Given the description of an element on the screen output the (x, y) to click on. 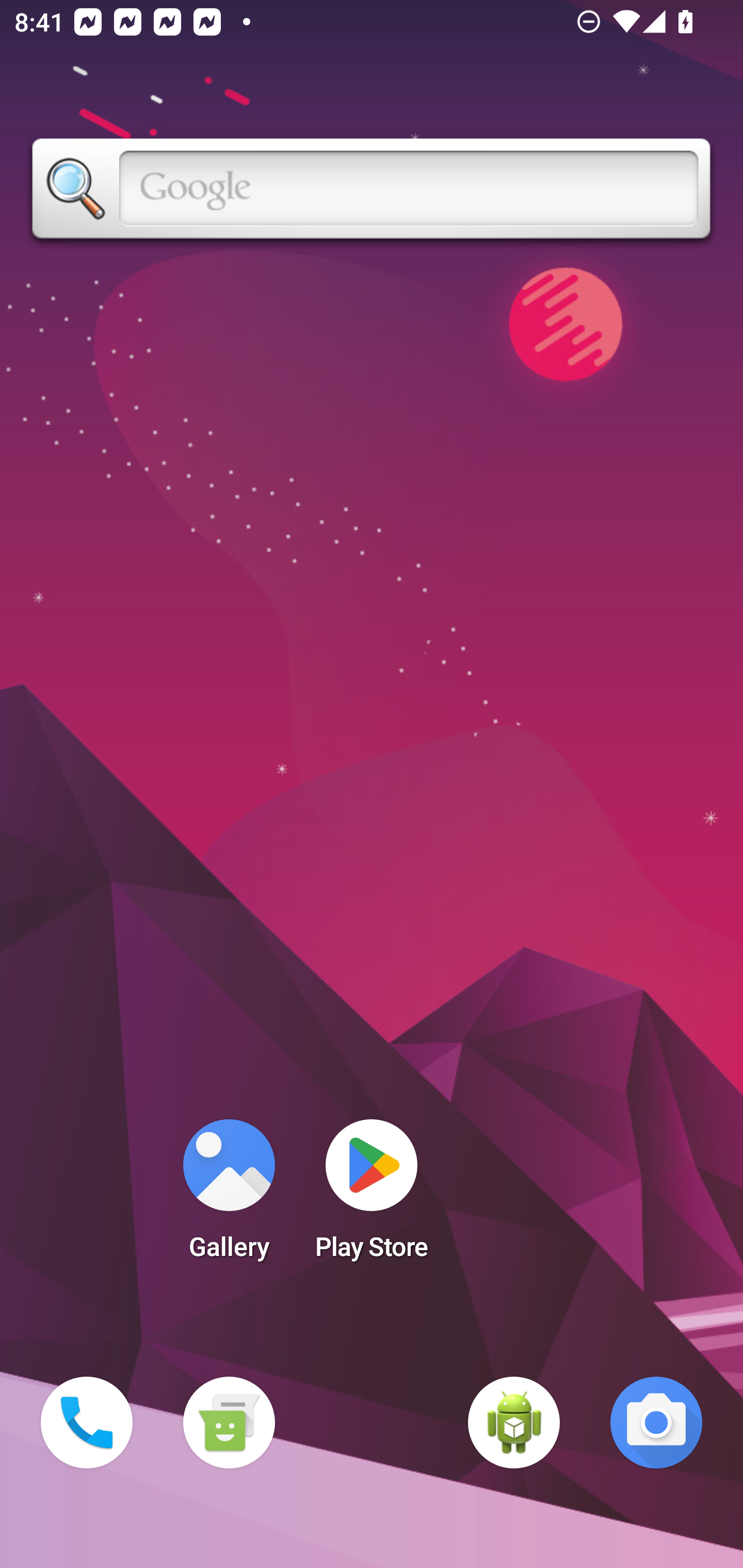
Gallery (228, 1195)
Play Store (371, 1195)
Phone (86, 1422)
Messaging (228, 1422)
WebView Browser Tester (513, 1422)
Camera (656, 1422)
